Given the description of an element on the screen output the (x, y) to click on. 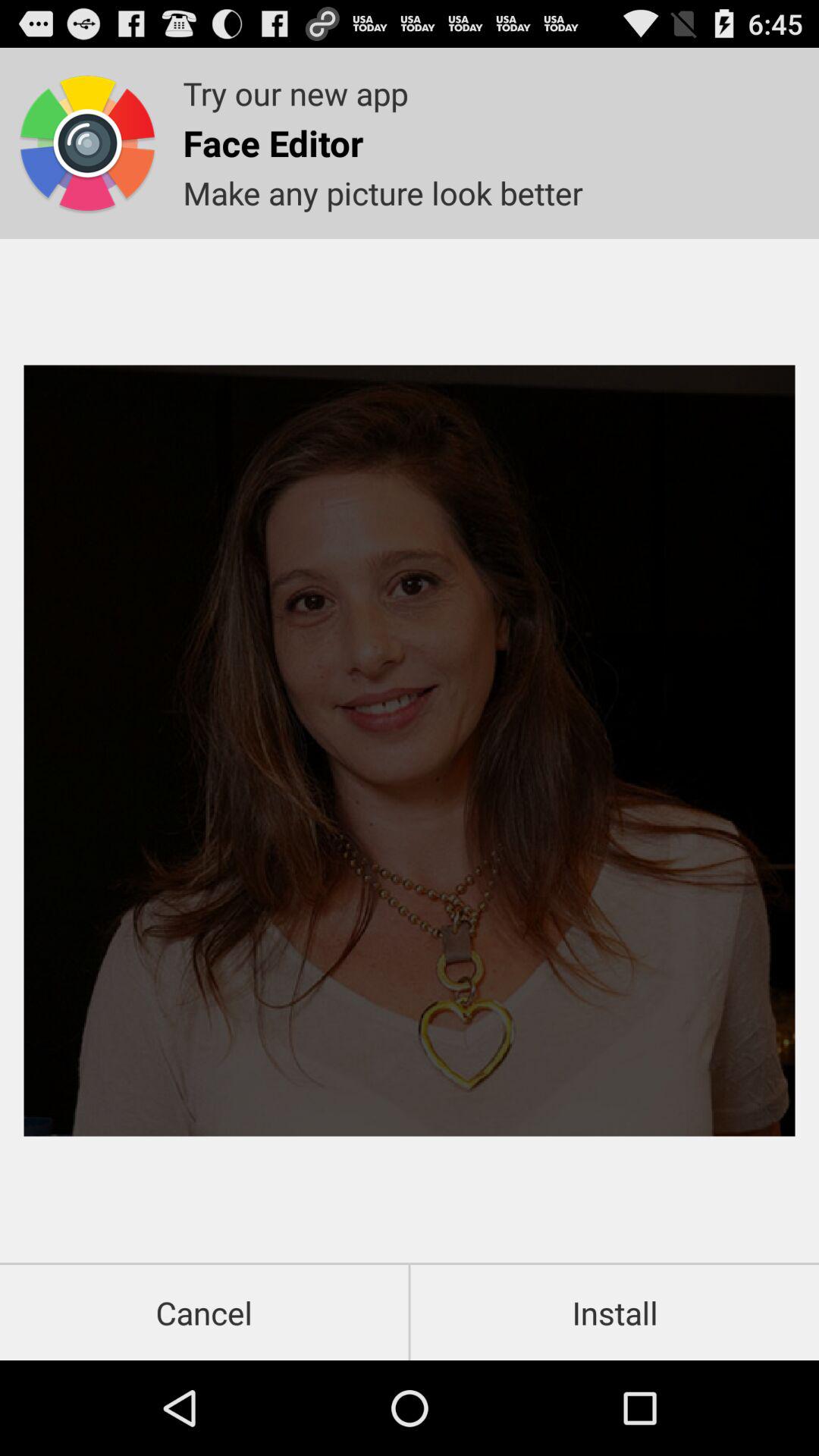
tap the item at the bottom right corner (614, 1312)
